Given the description of an element on the screen output the (x, y) to click on. 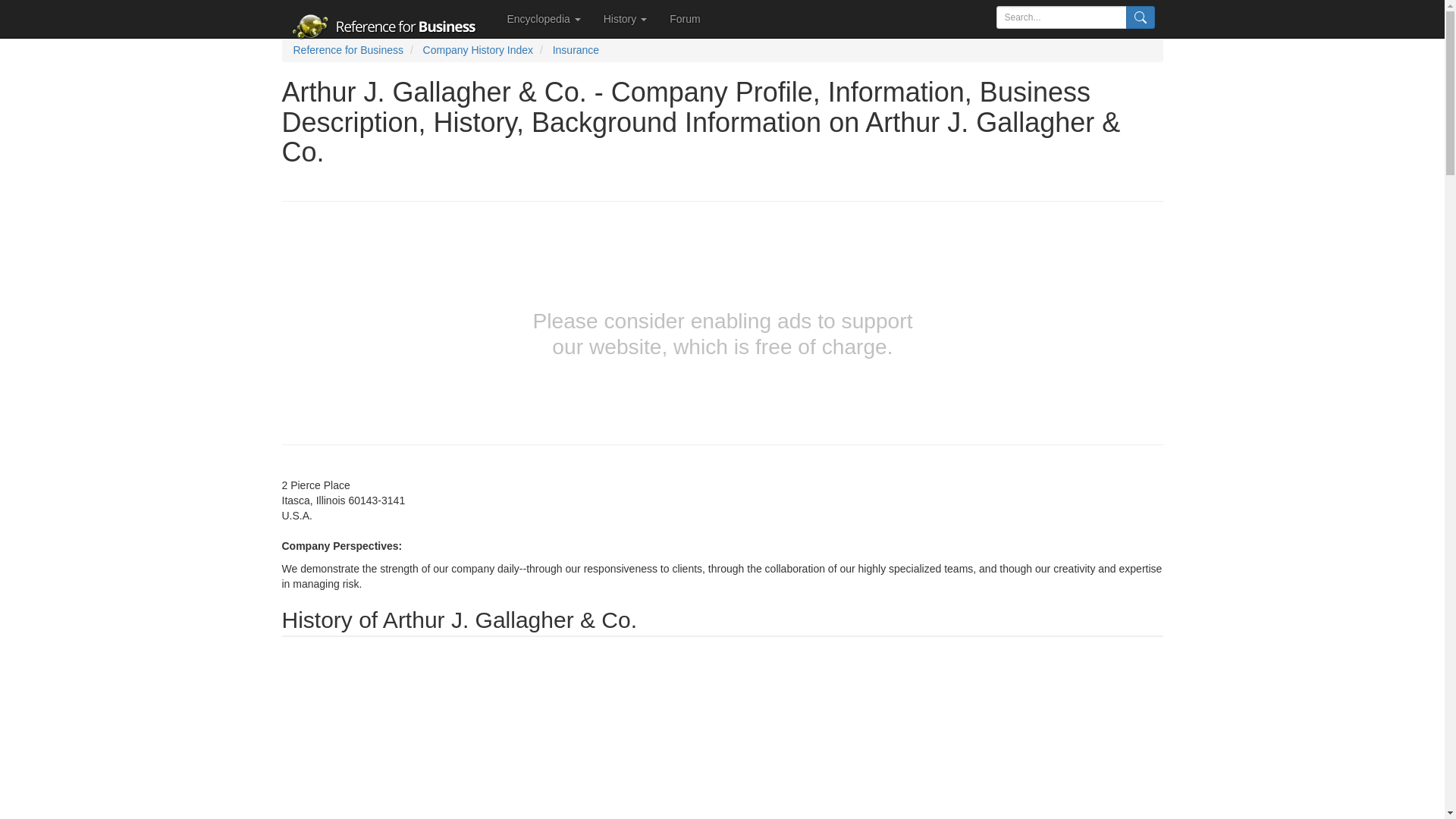
Beatrice Foods (633, 810)
economic depression (734, 742)
View 'beatrice foods' definition from Wikipedia (633, 810)
View 'reinsurance' definition from Wikipedia (858, 651)
reinsurance (858, 651)
Insurance (575, 50)
View 'property and casualty' definition from Wikipedia (774, 651)
History (625, 18)
Forum (684, 18)
Company History Index (478, 50)
